Given the description of an element on the screen output the (x, y) to click on. 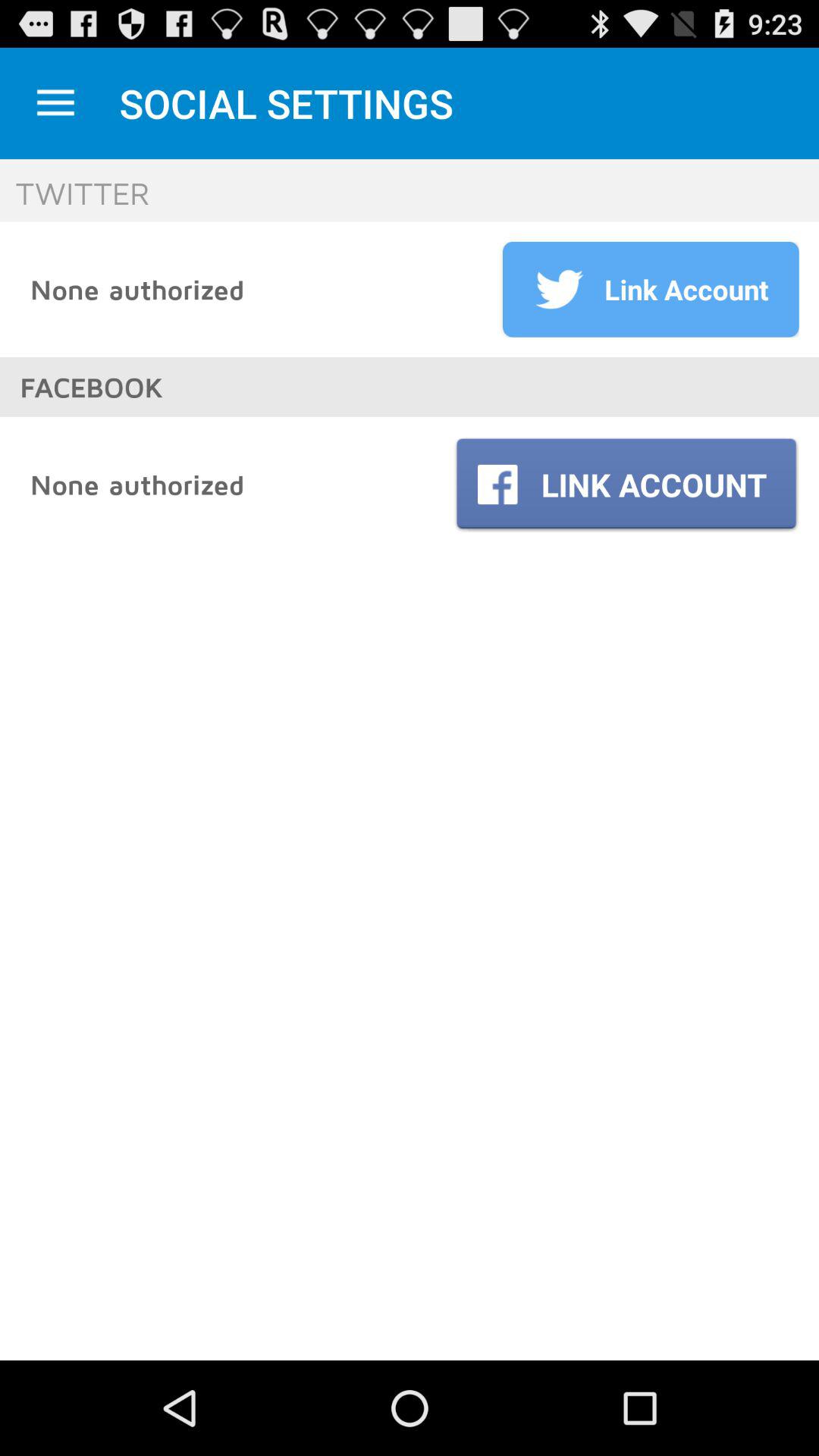
launch icon above twitter icon (55, 103)
